Given the description of an element on the screen output the (x, y) to click on. 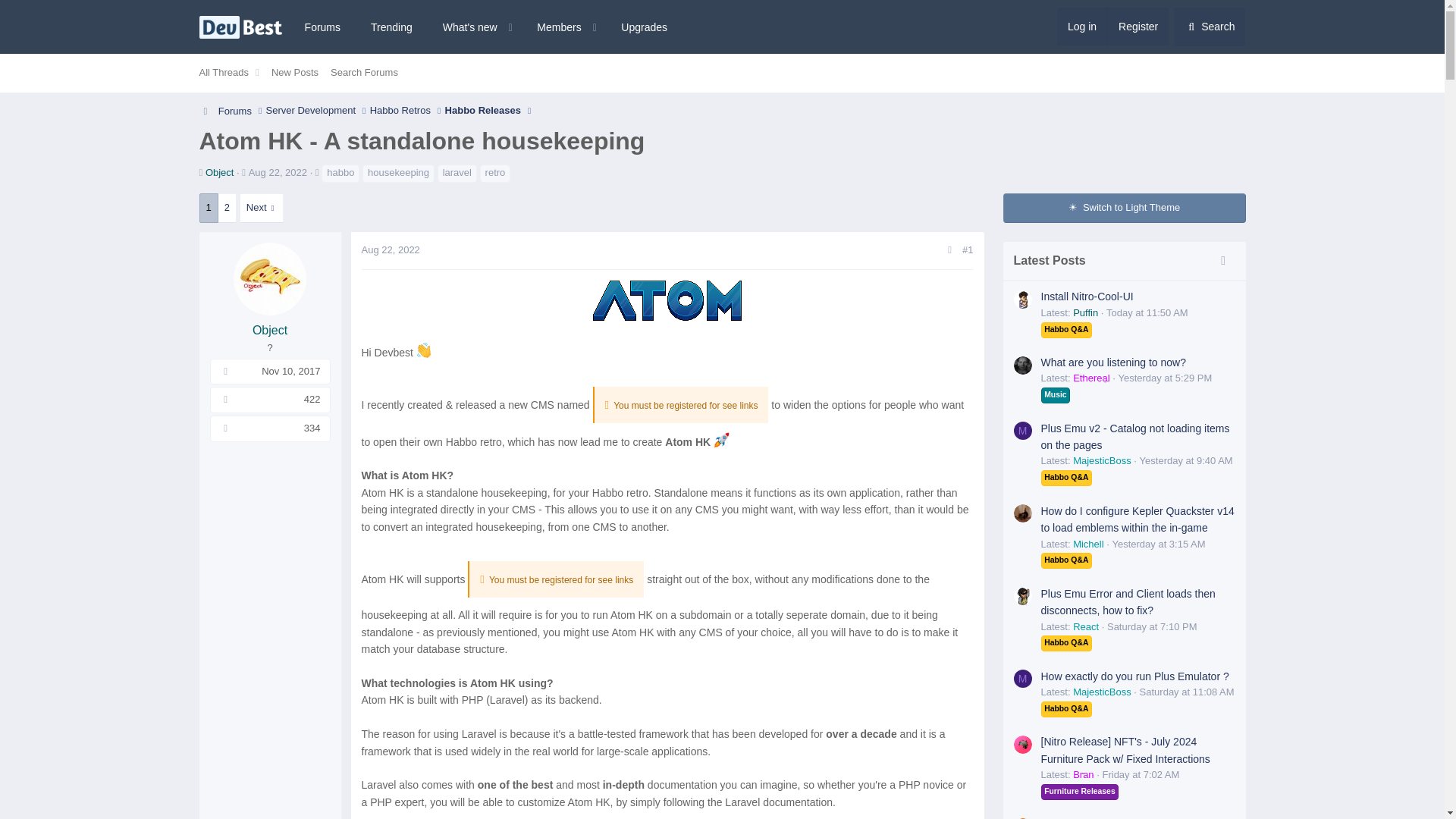
All Threads (220, 72)
Aug 22, 2022 at 11:20 AM (277, 172)
Aug 22, 2022 at 11:20 AM (486, 26)
Upgrades (390, 249)
Waving hand    :wave: (643, 26)
New Posts (424, 350)
Search (486, 44)
Register (294, 72)
Log in (1208, 26)
Search (721, 89)
Search Forums (1137, 26)
What's new (1081, 26)
